Given the description of an element on the screen output the (x, y) to click on. 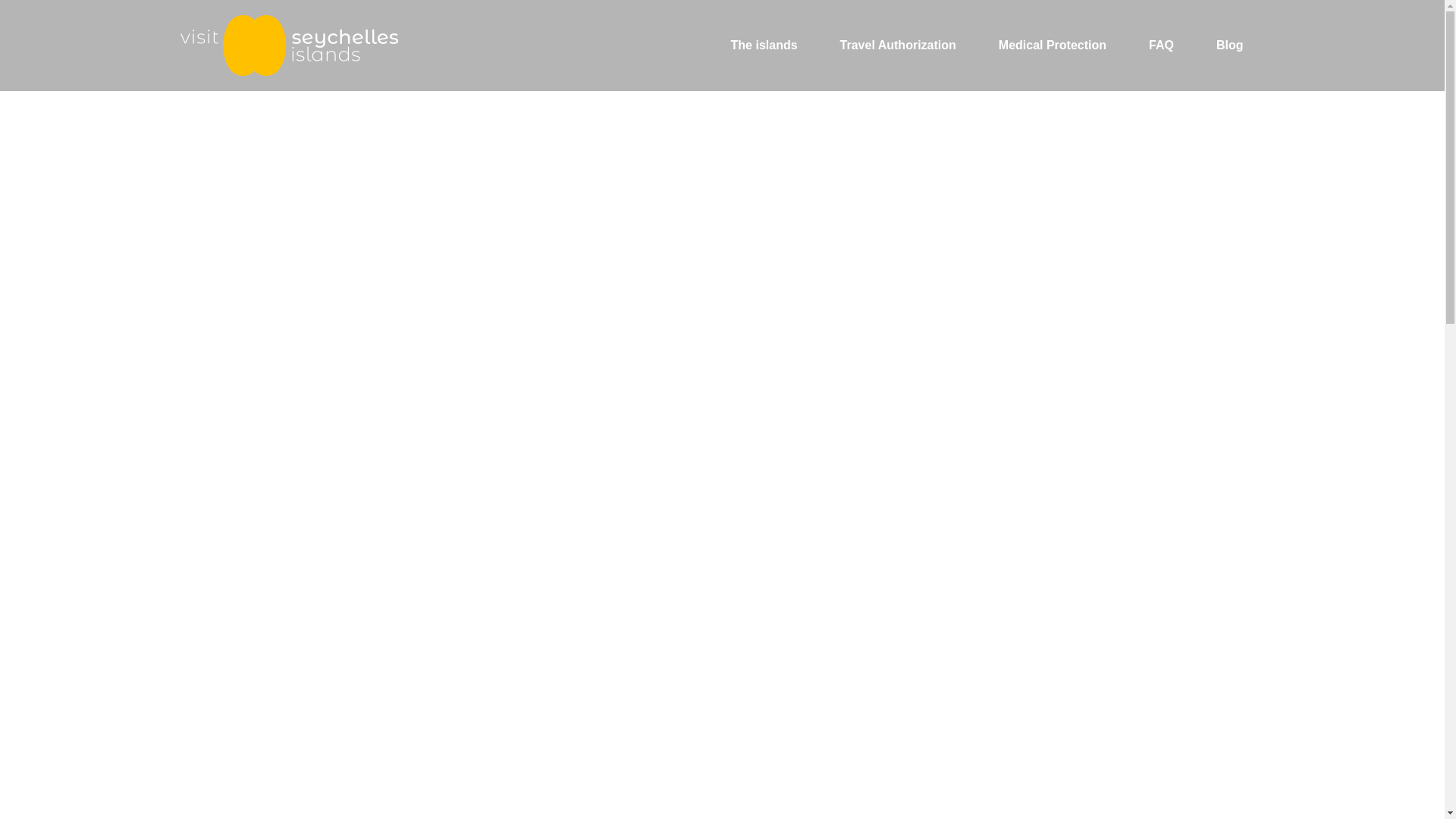
FAQ (1160, 45)
The islands (764, 45)
Travel Authorization (897, 45)
Medical Protection (1051, 45)
Blog (1230, 45)
